Given the description of an element on the screen output the (x, y) to click on. 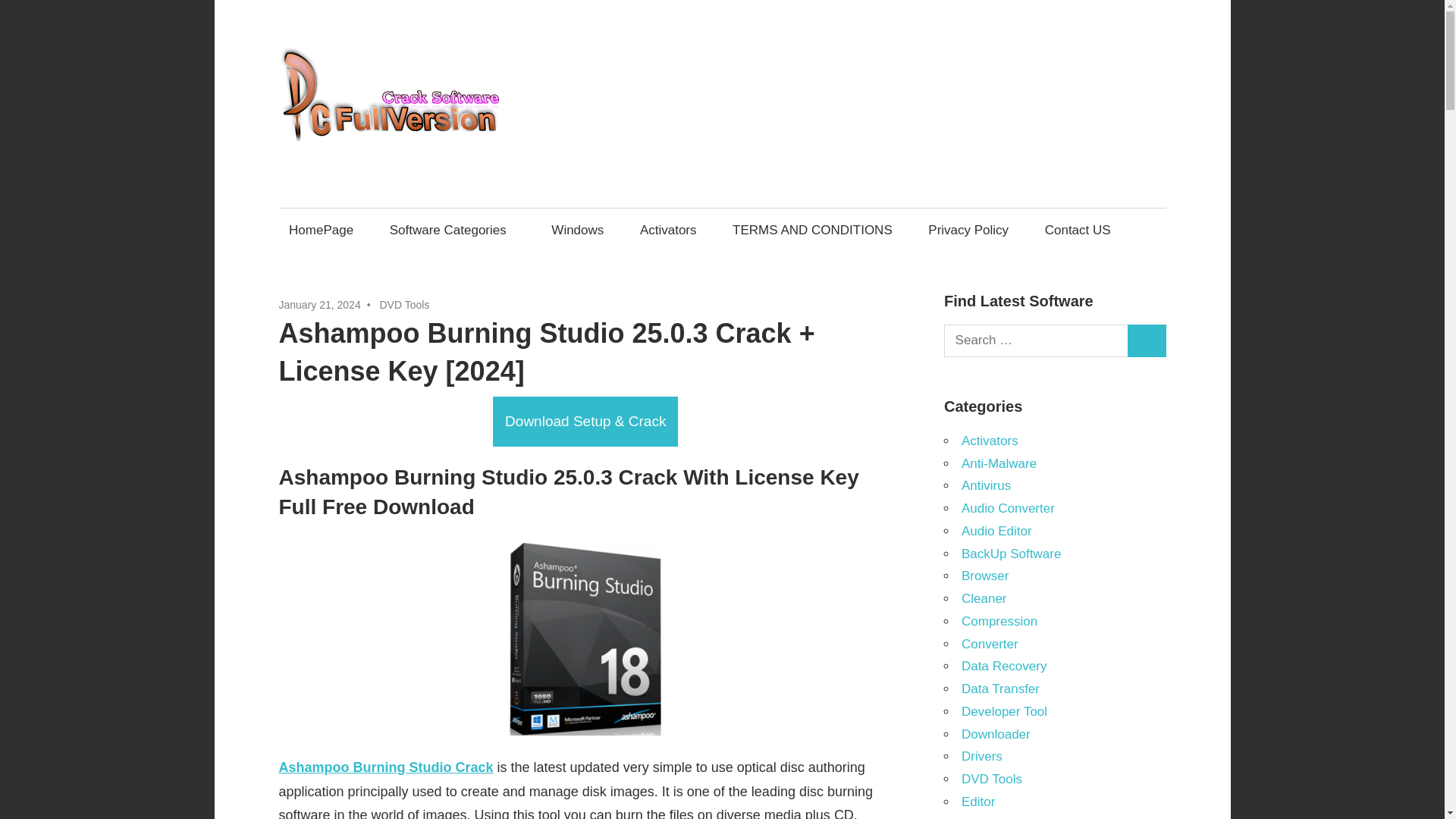
Contact US (1077, 230)
Privacy Policy (968, 230)
DVD Tools (403, 304)
Ashampoo Burning Studio Crack (386, 767)
1:04 am (320, 304)
Software Categories (451, 230)
Windows (577, 230)
Activators (667, 230)
TERMS AND CONDITIONS (812, 230)
HomePage (321, 230)
